Given the description of an element on the screen output the (x, y) to click on. 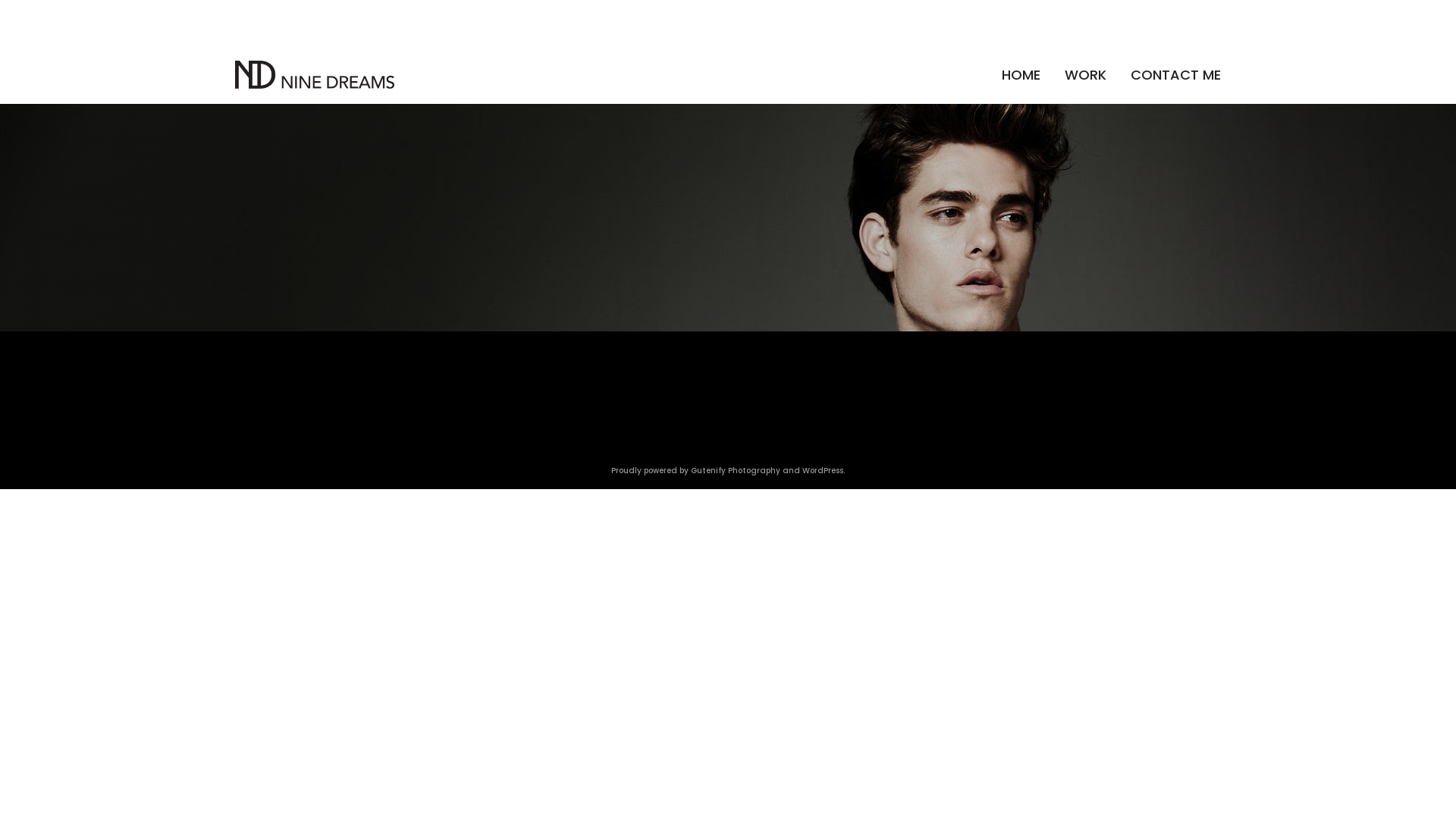
HOME Element type: text (1020, 74)
CONTACT ME Element type: text (1175, 74)
Gutenify Photography Element type: text (736, 470)
WORK Element type: text (1085, 74)
WordPress Element type: text (822, 470)
